Given the description of an element on the screen output the (x, y) to click on. 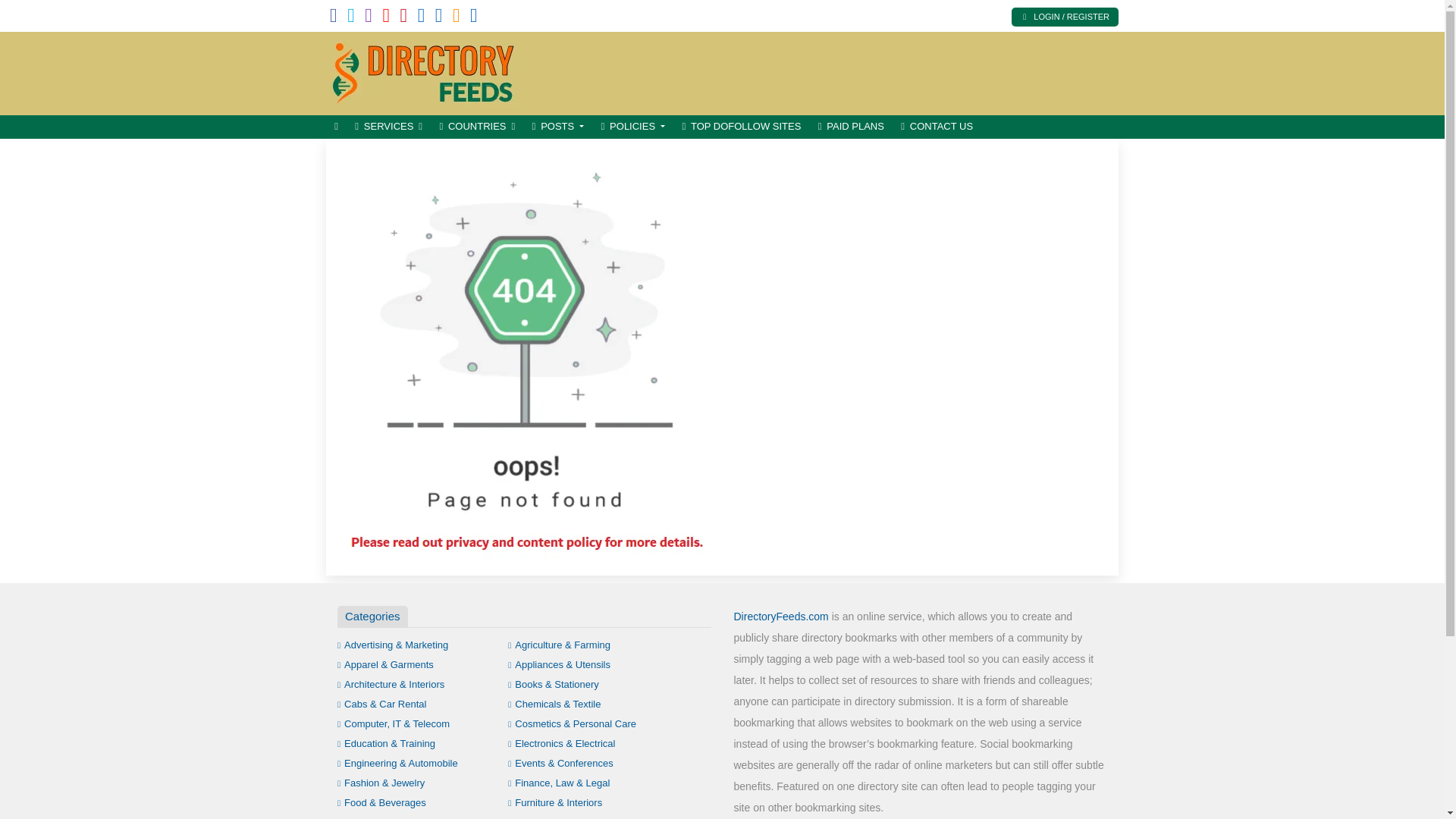
Directory Feed Service for Search Engine Optimization (428, 71)
SERVICES (388, 126)
